Given the description of an element on the screen output the (x, y) to click on. 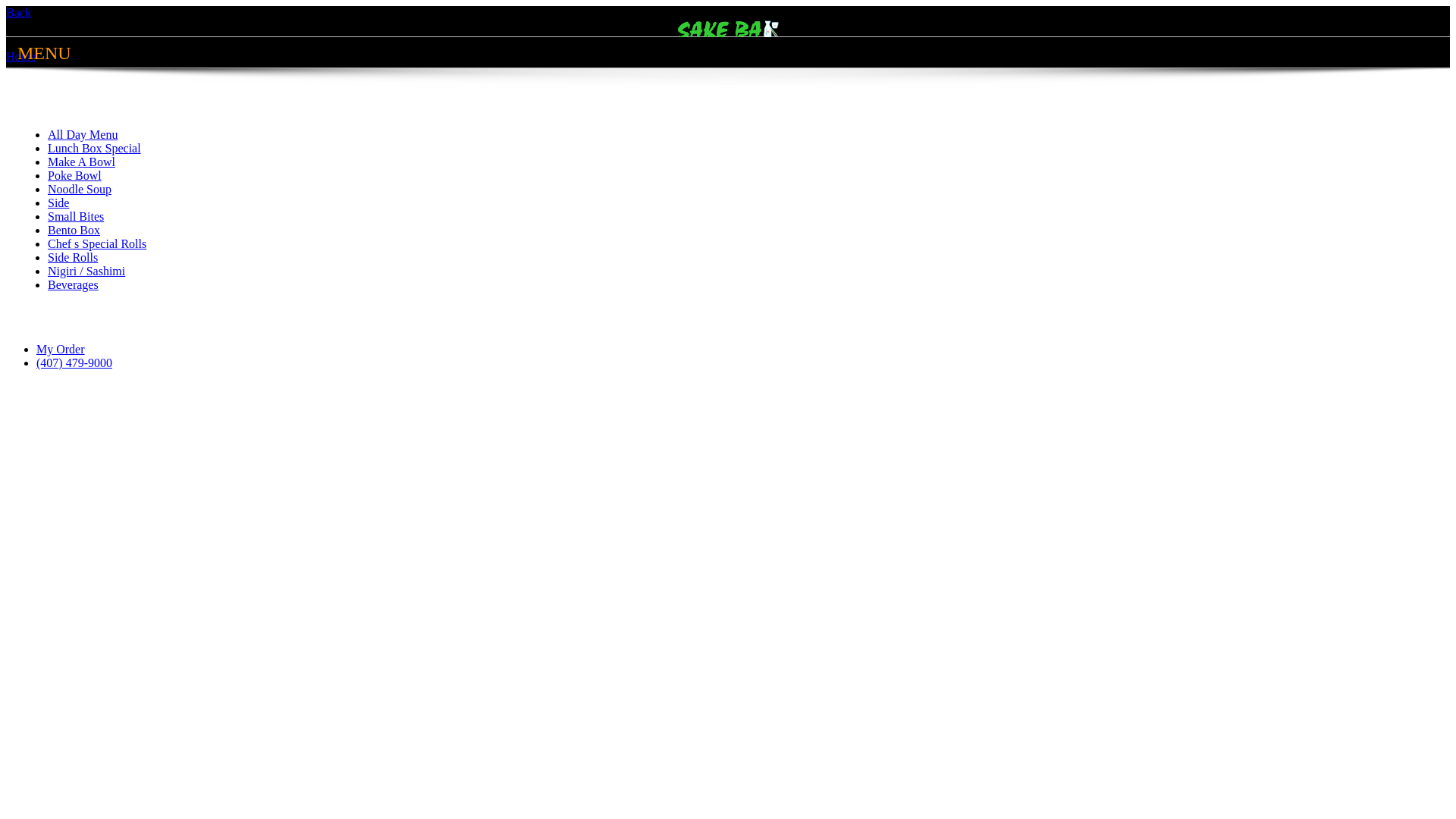
(407) 479-9000 Element type: text (74, 362)
Poke Bowl Element type: text (74, 175)
Bento Box Element type: text (73, 229)
All Day Menu Element type: text (82, 134)
Side Element type: text (58, 202)
Home Element type: text (20, 56)
Lunch Box Special Element type: text (94, 147)
Make A Bowl Element type: text (81, 161)
Back Element type: text (18, 12)
Side Rolls Element type: text (72, 257)
Nigiri / Sashimi Element type: text (86, 270)
Beverages Element type: text (72, 284)
Noodle Soup Element type: text (79, 188)
My Order Element type: text (60, 348)
Chef s Special Rolls Element type: text (96, 243)
Small Bites Element type: text (75, 216)
